Given the description of an element on the screen output the (x, y) to click on. 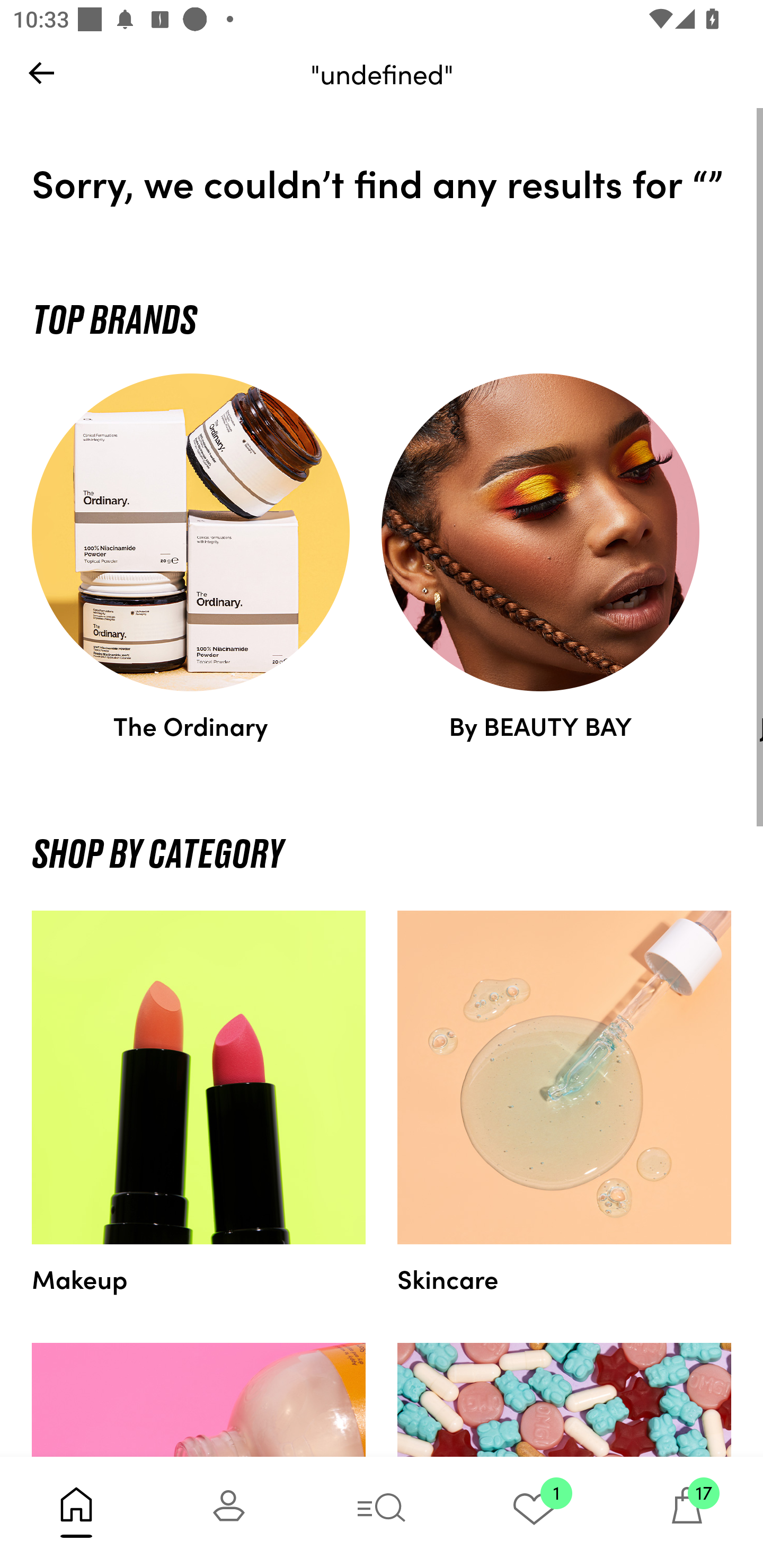
The Ordinary (190, 557)
By BEAUTY BAY (540, 557)
Makeup (198, 1103)
Skincare (563, 1103)
1 (533, 1512)
17 (686, 1512)
